Given the description of an element on the screen output the (x, y) to click on. 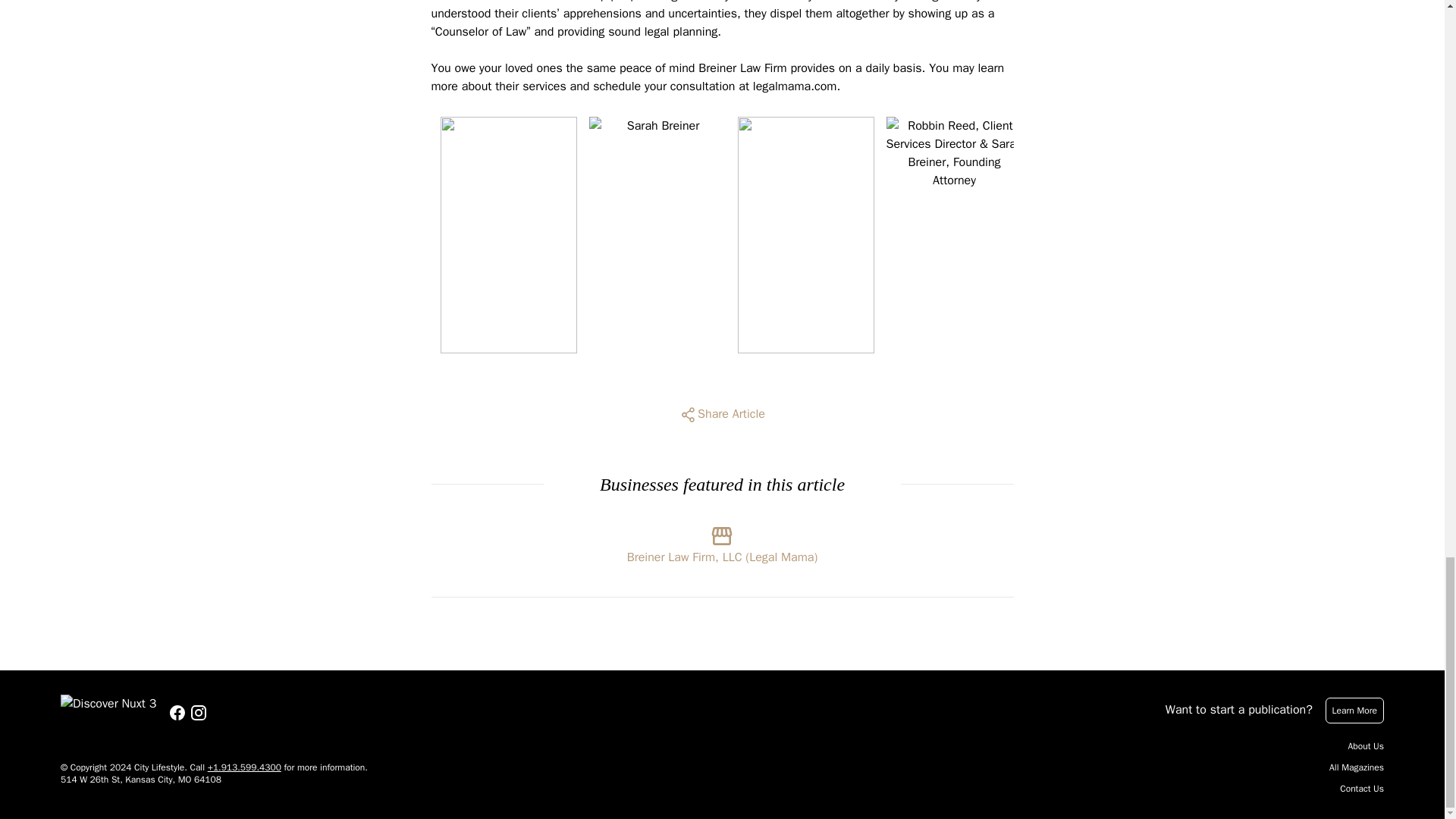
Share Article (722, 414)
Contact Us (1361, 788)
Learn More (1354, 710)
About Us (1366, 746)
All Magazines (1356, 767)
